Given the description of an element on the screen output the (x, y) to click on. 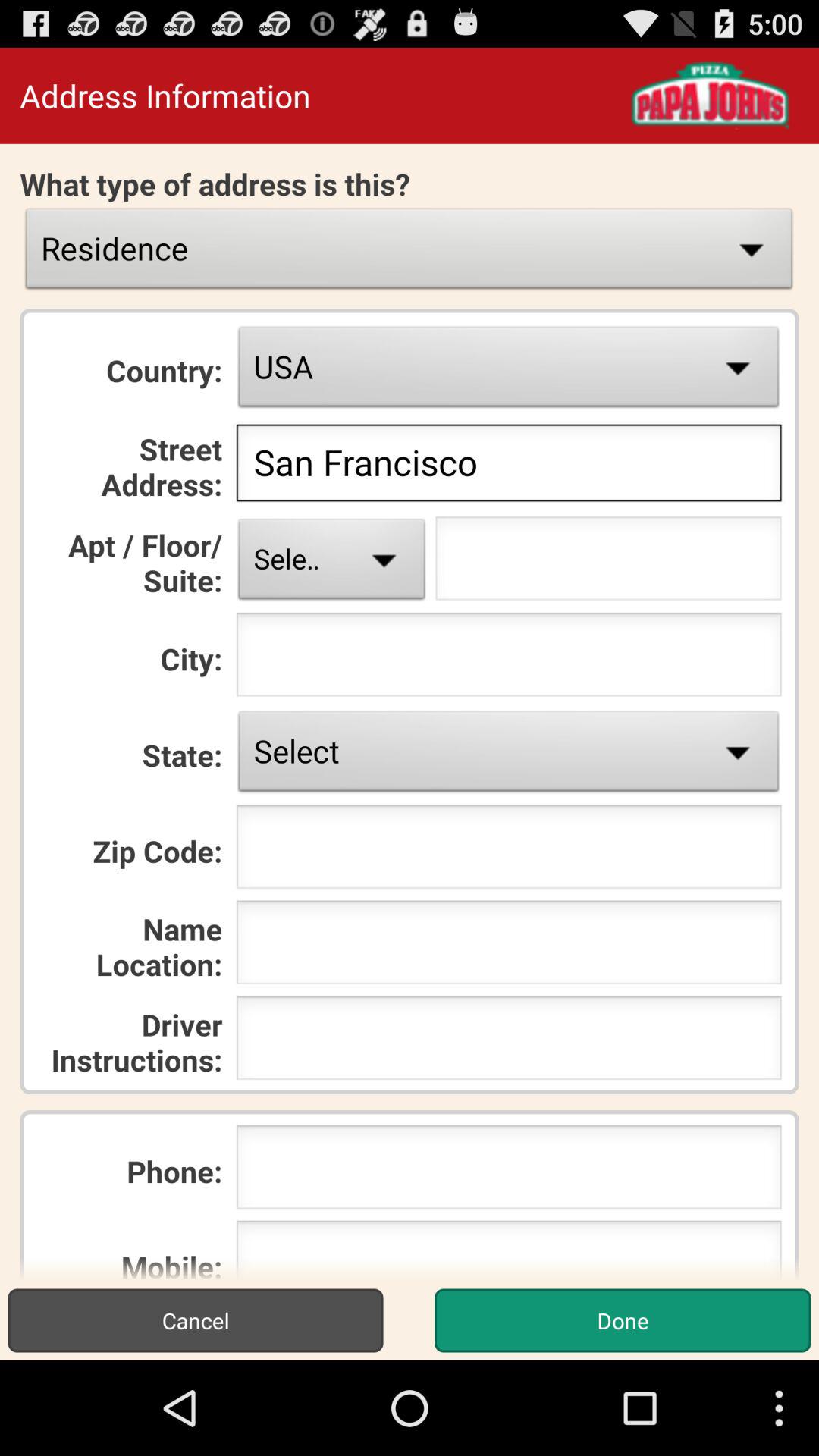
enter mobile phone (508, 1249)
